Given the description of an element on the screen output the (x, y) to click on. 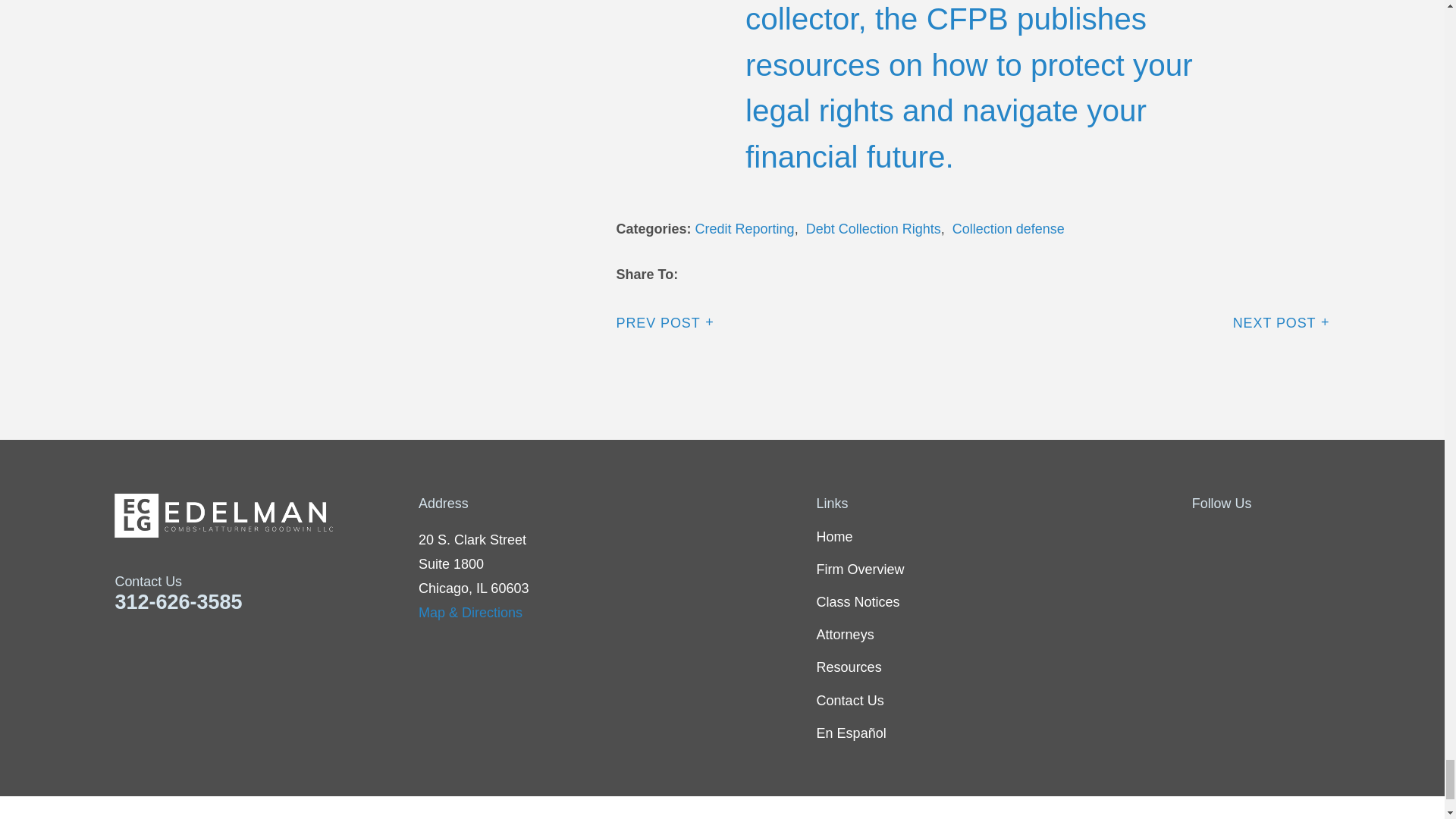
Google Business Profile (1319, 537)
Twitter (1240, 537)
Yelp (1280, 537)
Facebook (1201, 537)
Home (267, 515)
